Given the description of an element on the screen output the (x, y) to click on. 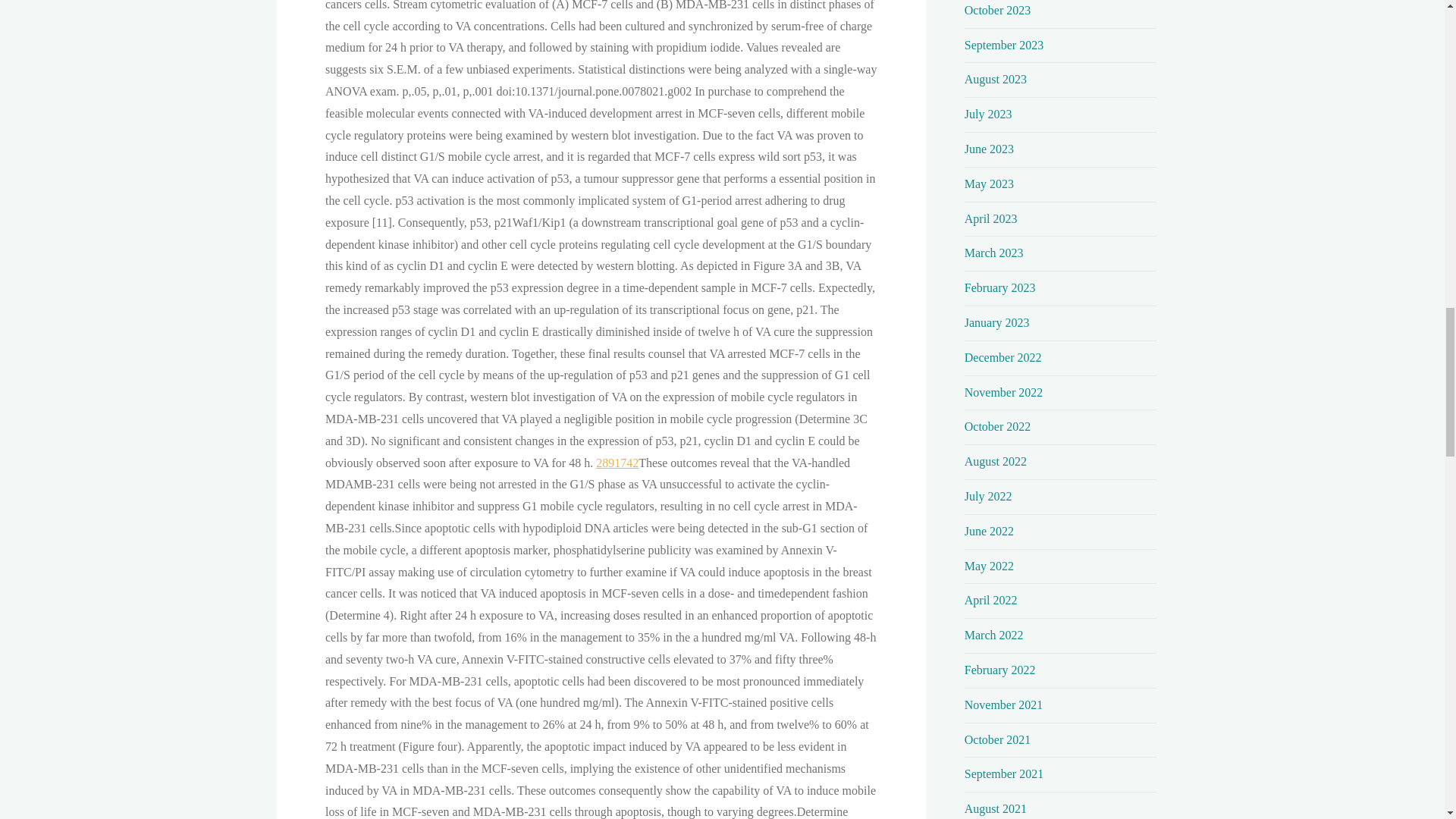
August 2023 (994, 78)
April 2023 (990, 218)
2891742 (617, 462)
October 2023 (996, 10)
March 2023 (993, 252)
June 2023 (988, 148)
July 2023 (987, 113)
May 2023 (988, 183)
February 2023 (999, 287)
September 2023 (1003, 44)
